Given the description of an element on the screen output the (x, y) to click on. 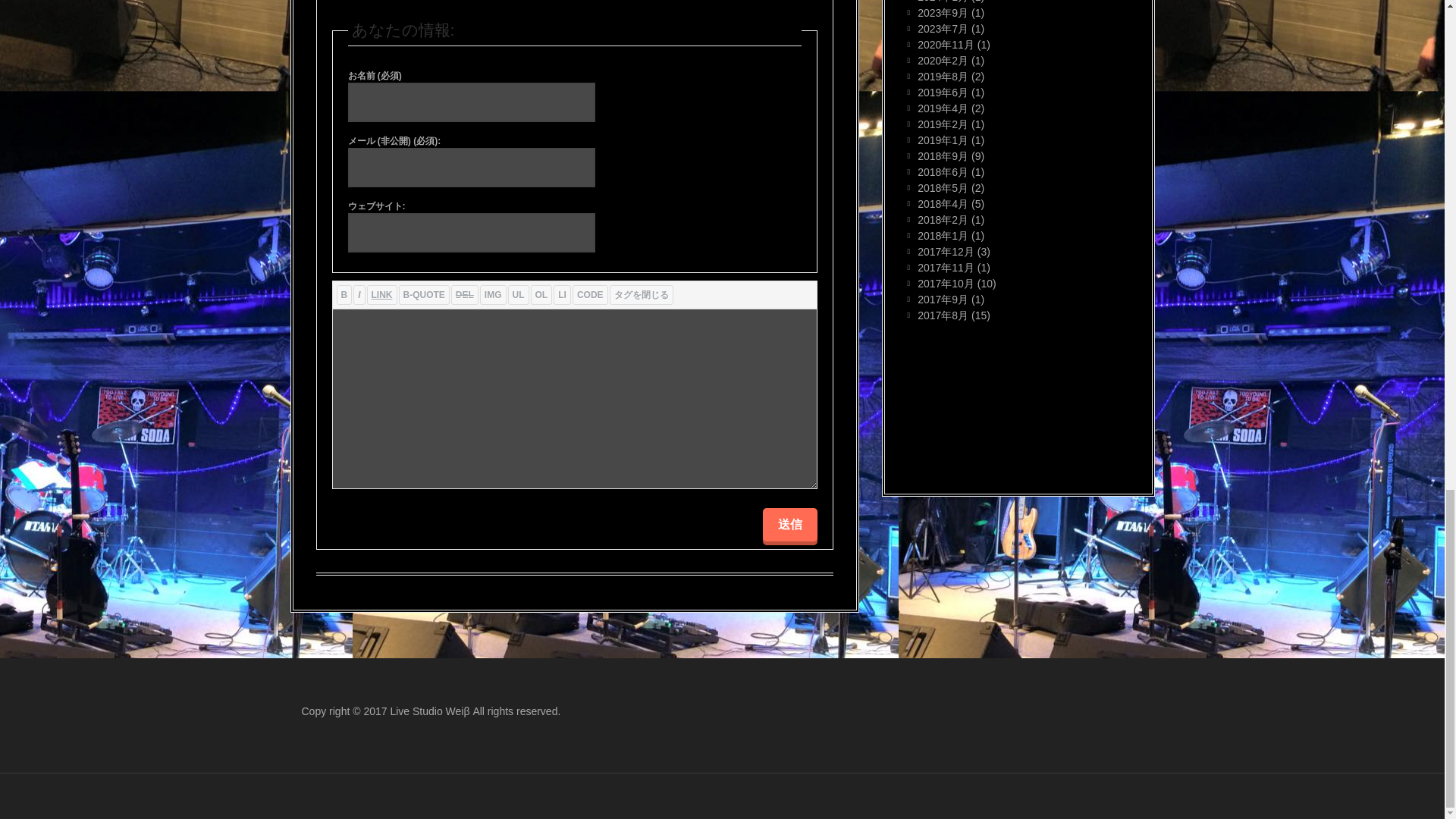
img (493, 294)
code (590, 294)
ol (542, 294)
del (465, 294)
ul (518, 294)
b-quote (423, 294)
link (381, 294)
